Given the description of an element on the screen output the (x, y) to click on. 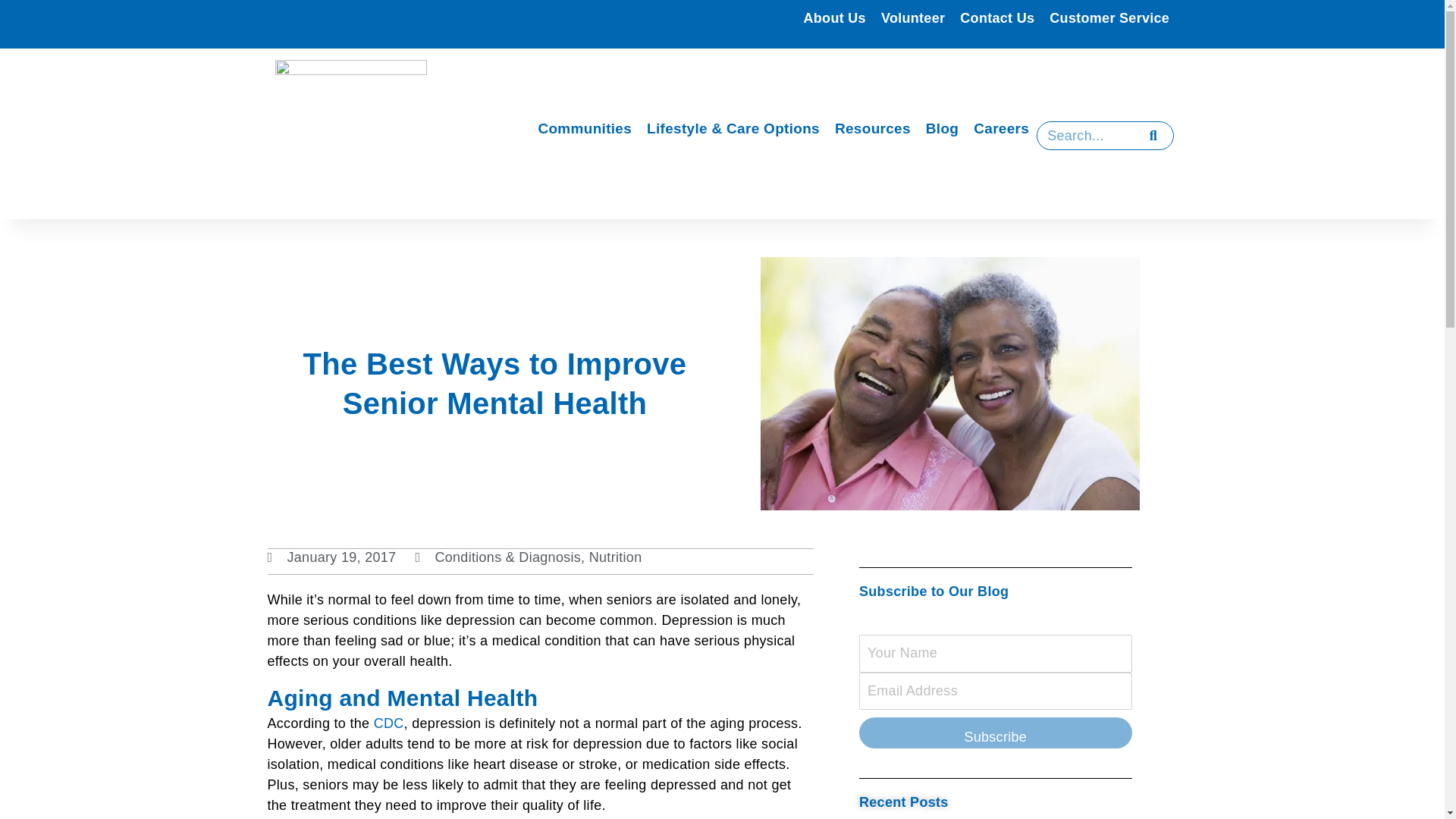
Contact Us (997, 18)
Volunteer (912, 18)
Customer Service (1109, 18)
About Us (834, 18)
Communities (584, 128)
